Given the description of an element on the screen output the (x, y) to click on. 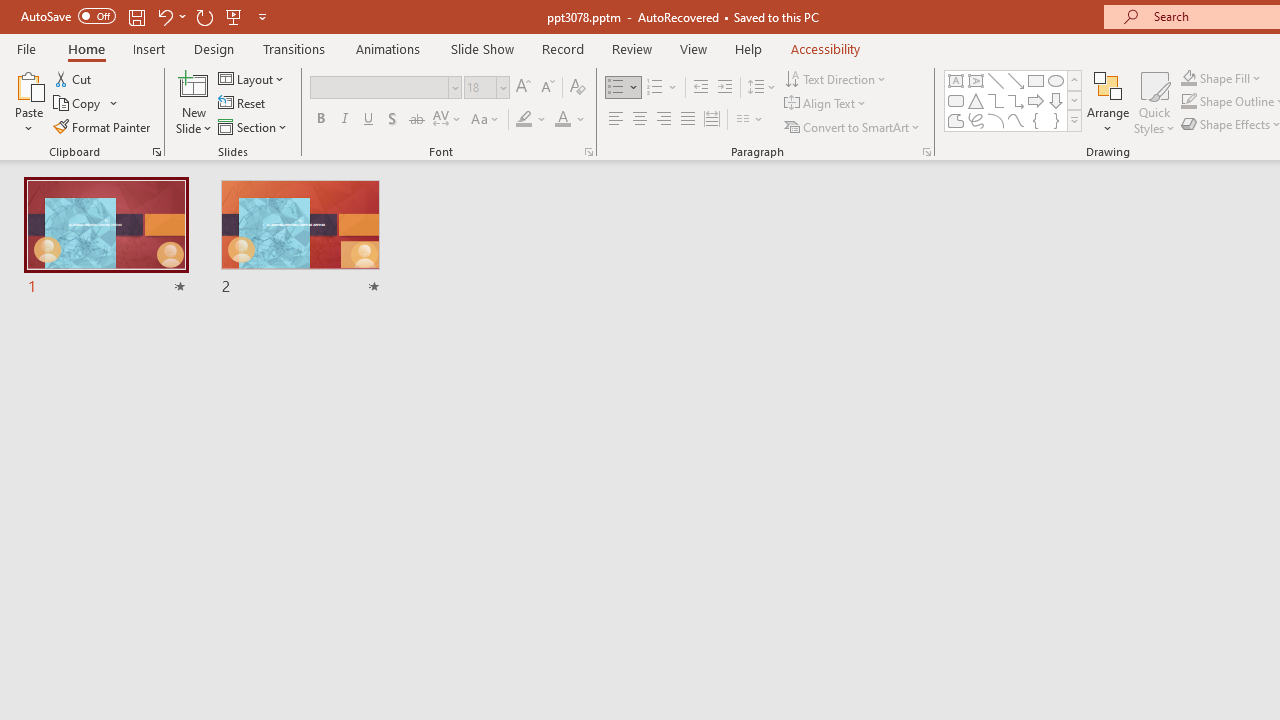
Shape Fill Dark Green, Accent 2 (1188, 78)
